Given the description of an element on the screen output the (x, y) to click on. 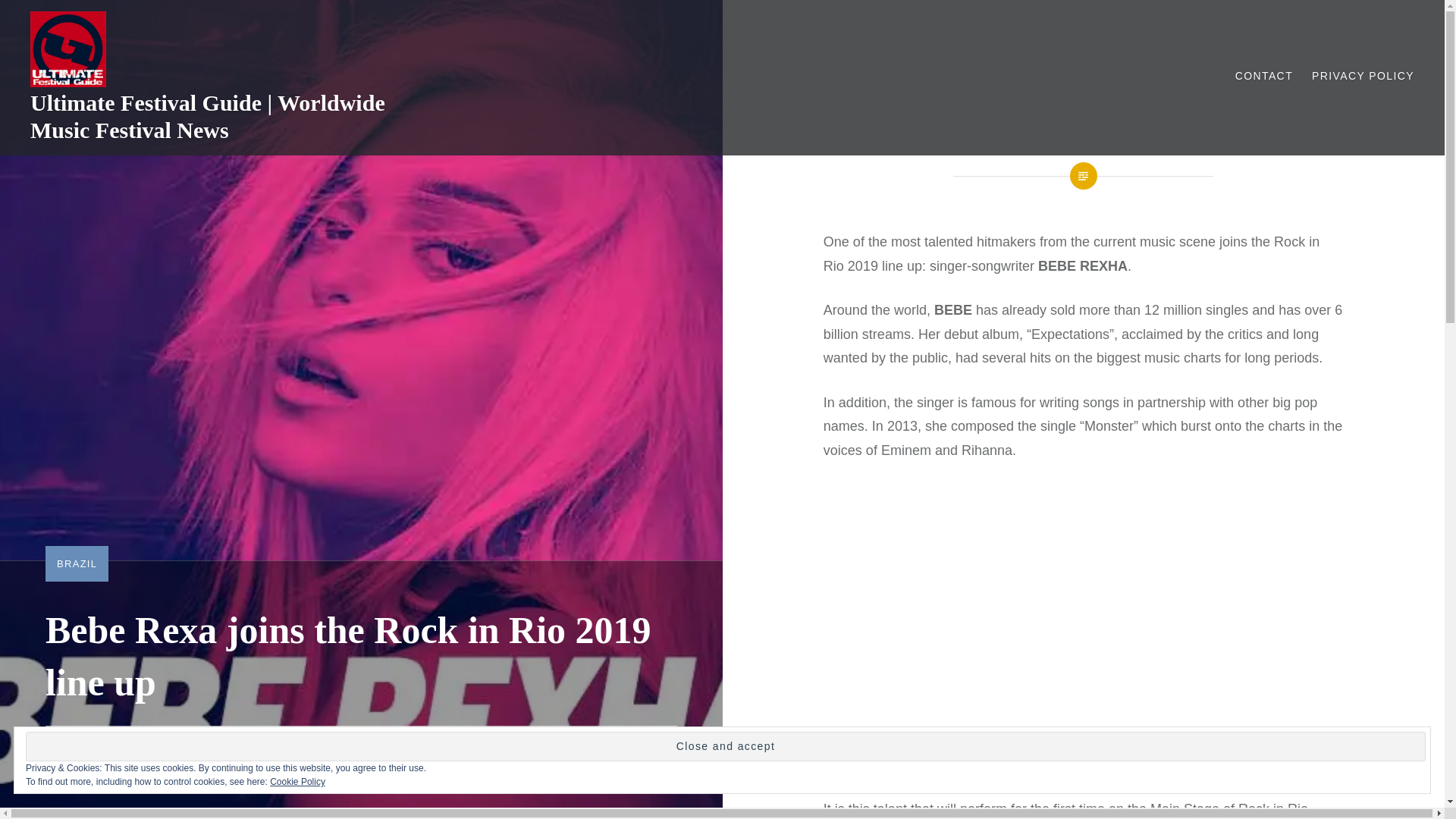
BRAZIL (76, 563)
PRIVACY POLICY (1362, 76)
Cookie Policy (296, 781)
MARCH 26, 2019 (207, 752)
Close and accept (725, 746)
ANDY (117, 752)
CONTACT (1263, 76)
Close and accept (725, 746)
